Given the description of an element on the screen output the (x, y) to click on. 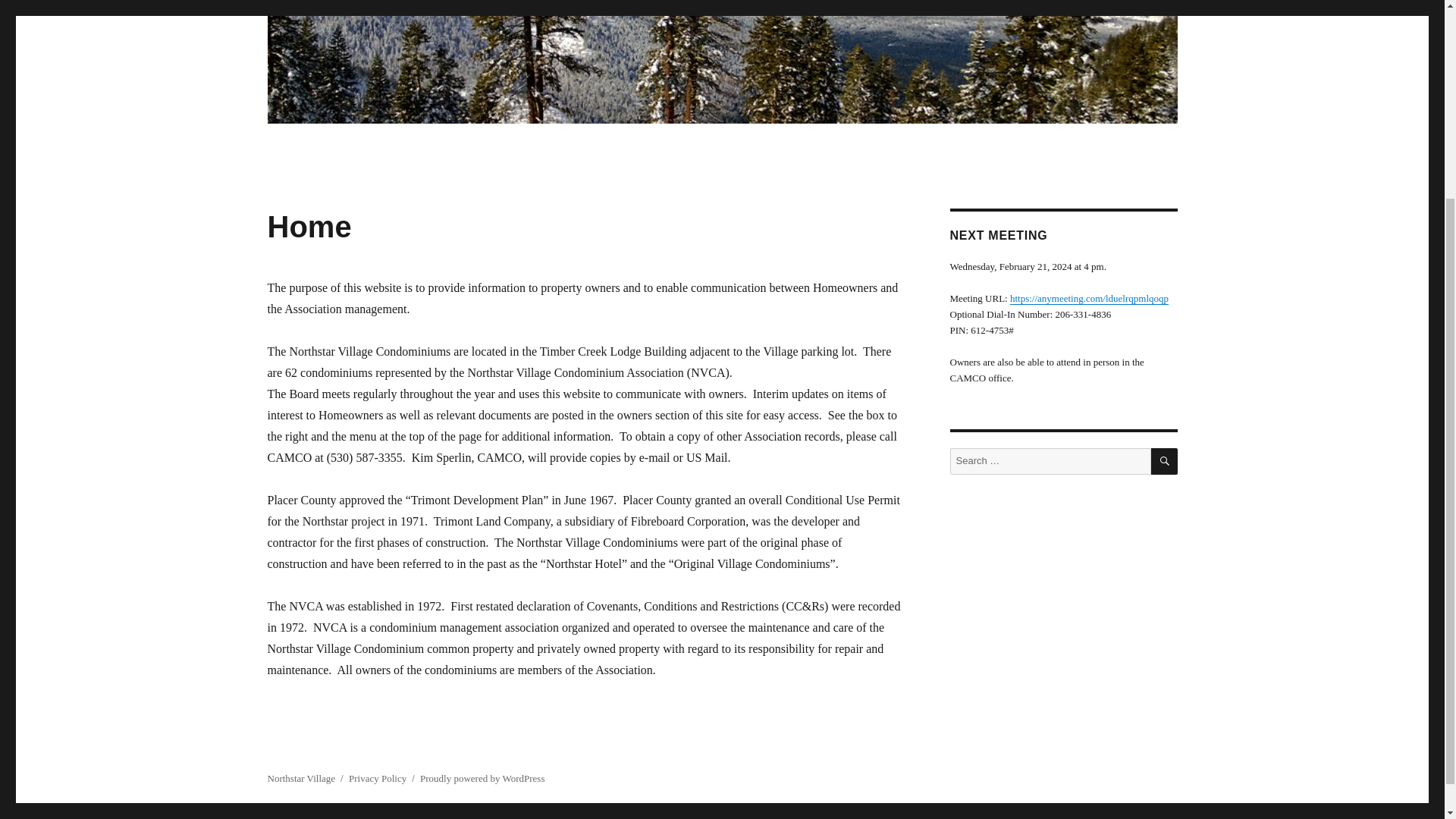
Privacy Policy (377, 778)
Proudly powered by WordPress (482, 778)
SEARCH (1164, 461)
Northstar Village (300, 778)
